Given the description of an element on the screen output the (x, y) to click on. 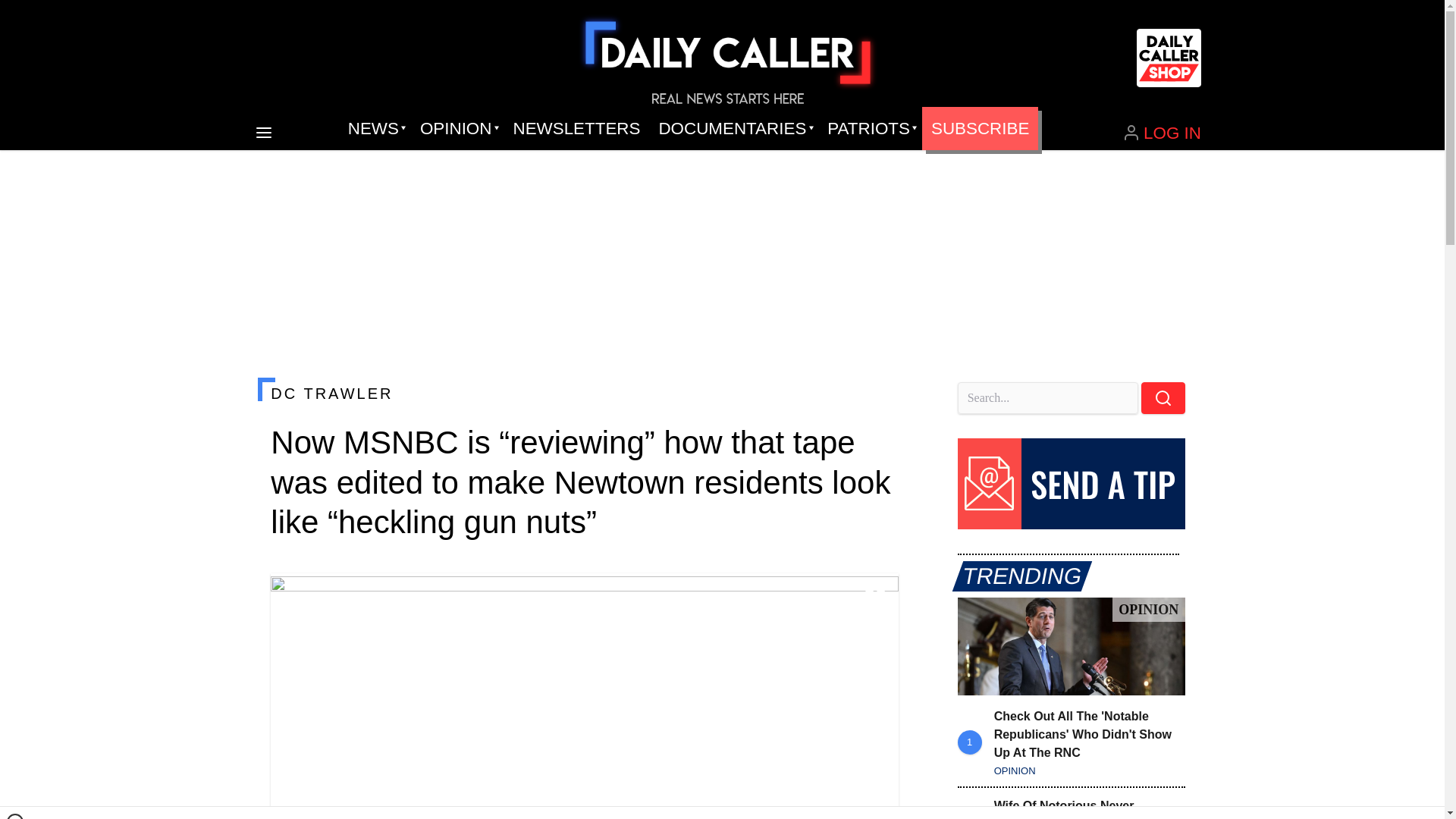
PATRIOTS (869, 128)
Close window (14, 816)
NEWS (374, 128)
NEWSLETTERS (576, 128)
DOCUMENTARIES (733, 128)
DC TRAWLER (584, 393)
SUBSCRIBE (979, 128)
OPINION (456, 128)
Toggle fullscreen (874, 596)
